Given the description of an element on the screen output the (x, y) to click on. 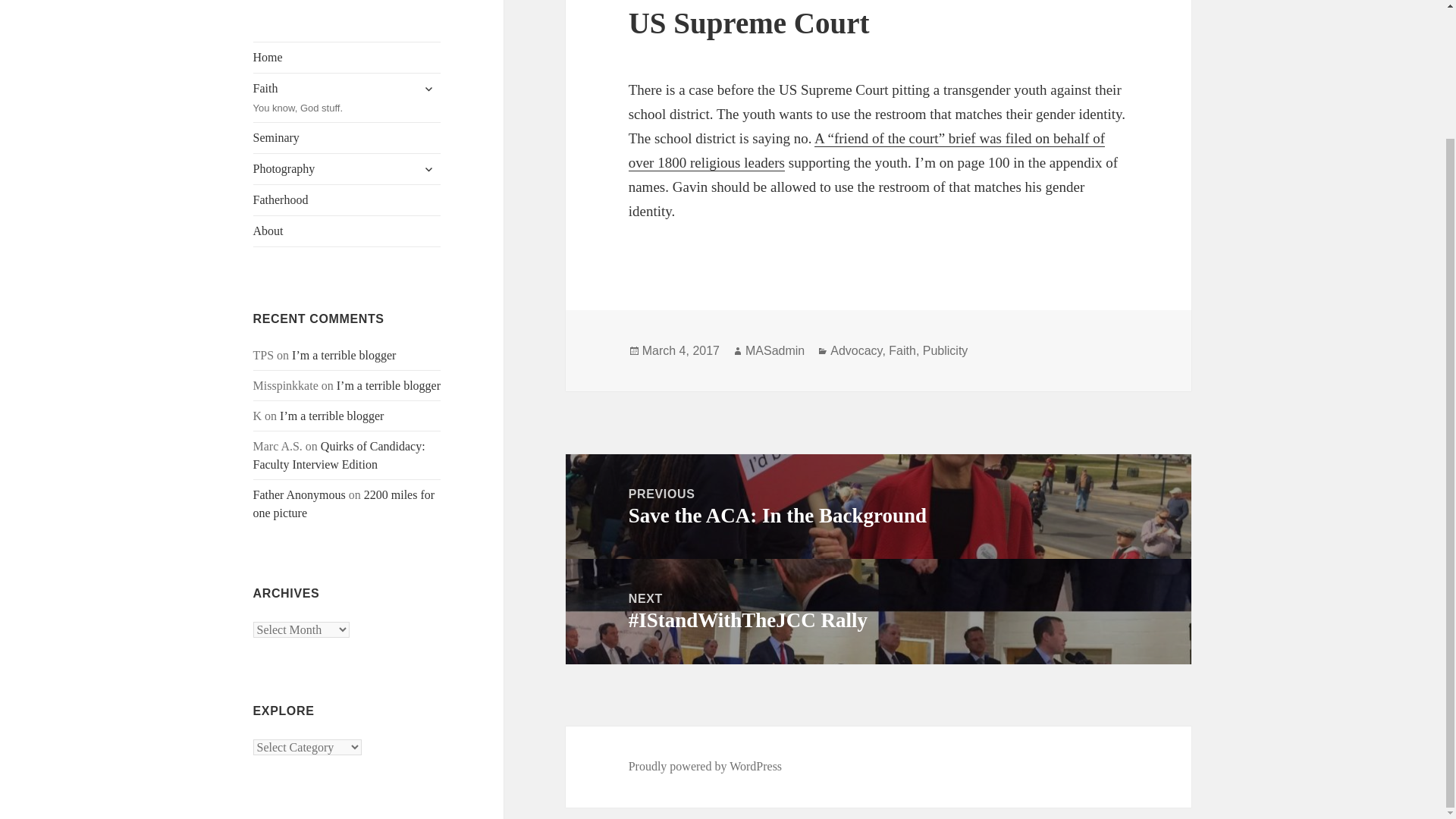
Seminary (347, 137)
MASadmin (775, 350)
expand child menu (347, 97)
Quirks of Candidacy: Faculty Interview Edition (428, 168)
Fatherhood (339, 454)
Photography (347, 200)
2200 miles for one picture (347, 168)
About (344, 503)
Publicity (878, 505)
Proudly powered by WordPress (347, 231)
Faith (945, 350)
Advocacy (704, 766)
Father Anonymous (901, 350)
